Given the description of an element on the screen output the (x, y) to click on. 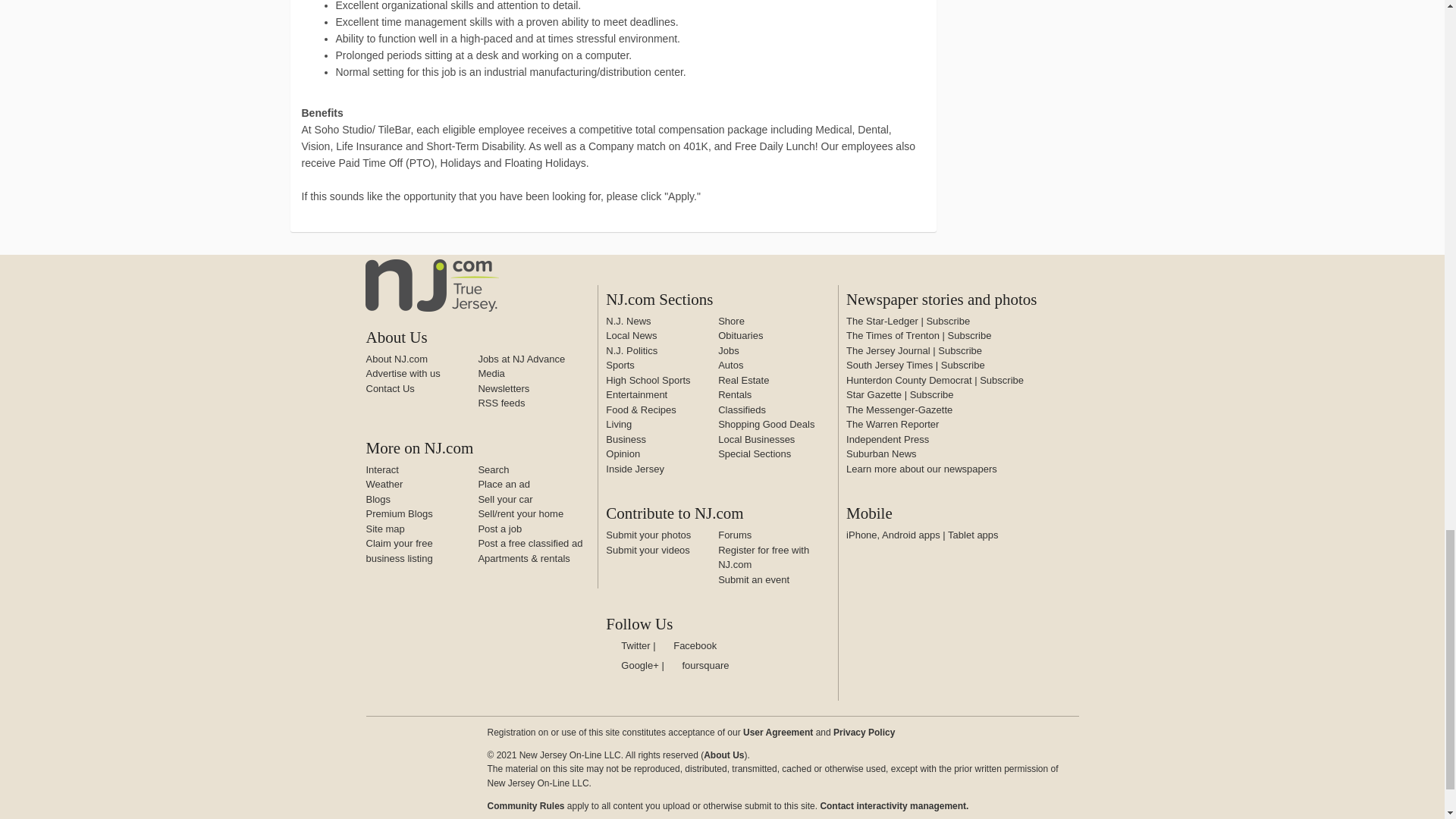
Community Rules (893, 805)
Contact Us (389, 387)
Privacy Policy (863, 732)
User Agreement (777, 732)
Community Rules (525, 805)
